Given the description of an element on the screen output the (x, y) to click on. 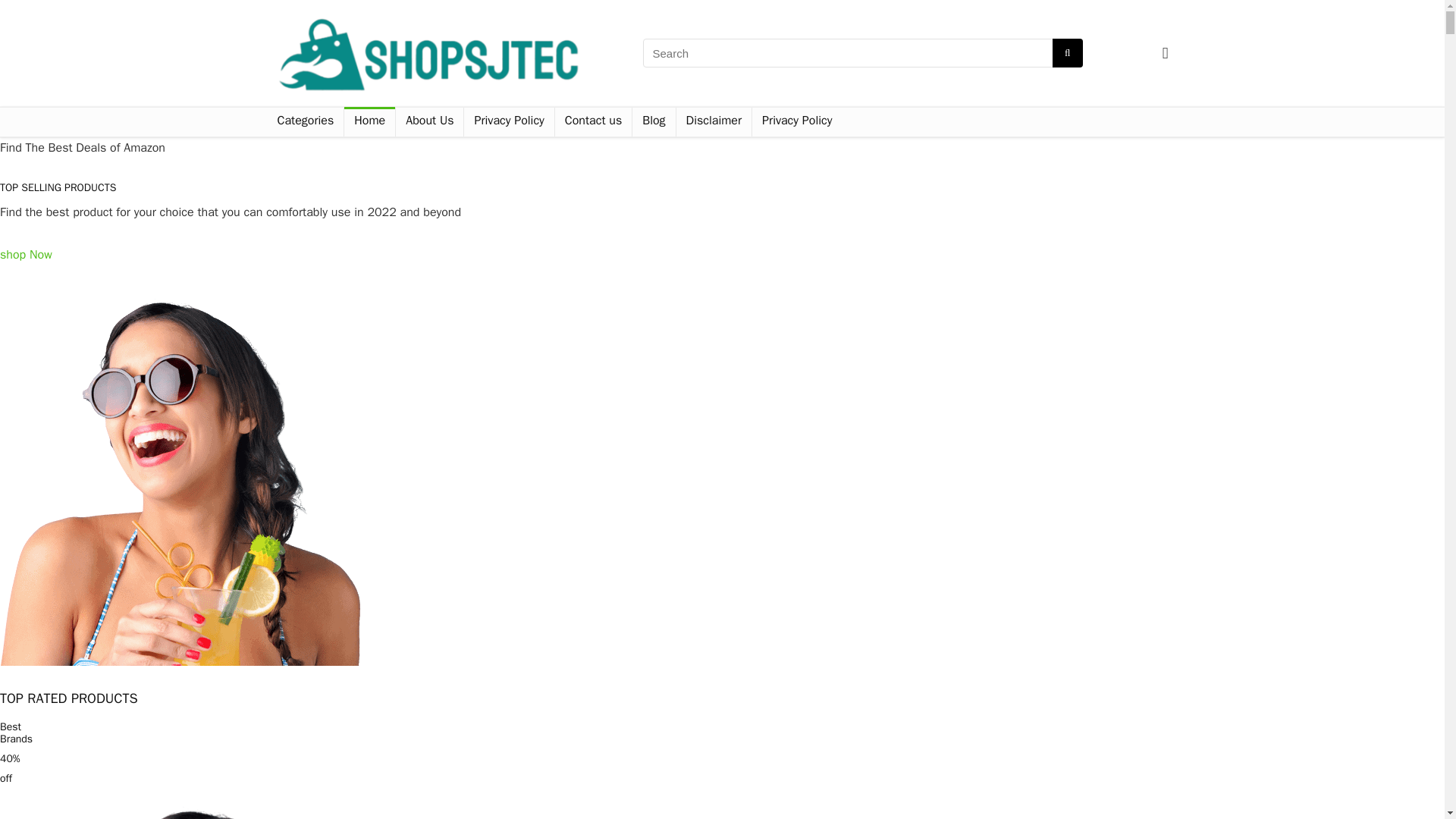
About Us (429, 121)
Contact us (592, 121)
Home (368, 121)
Categories (304, 121)
shop Now (26, 265)
Disclaimer (714, 121)
Privacy Policy (508, 121)
Privacy Policy (796, 121)
Blog (653, 121)
